Given the description of an element on the screen output the (x, y) to click on. 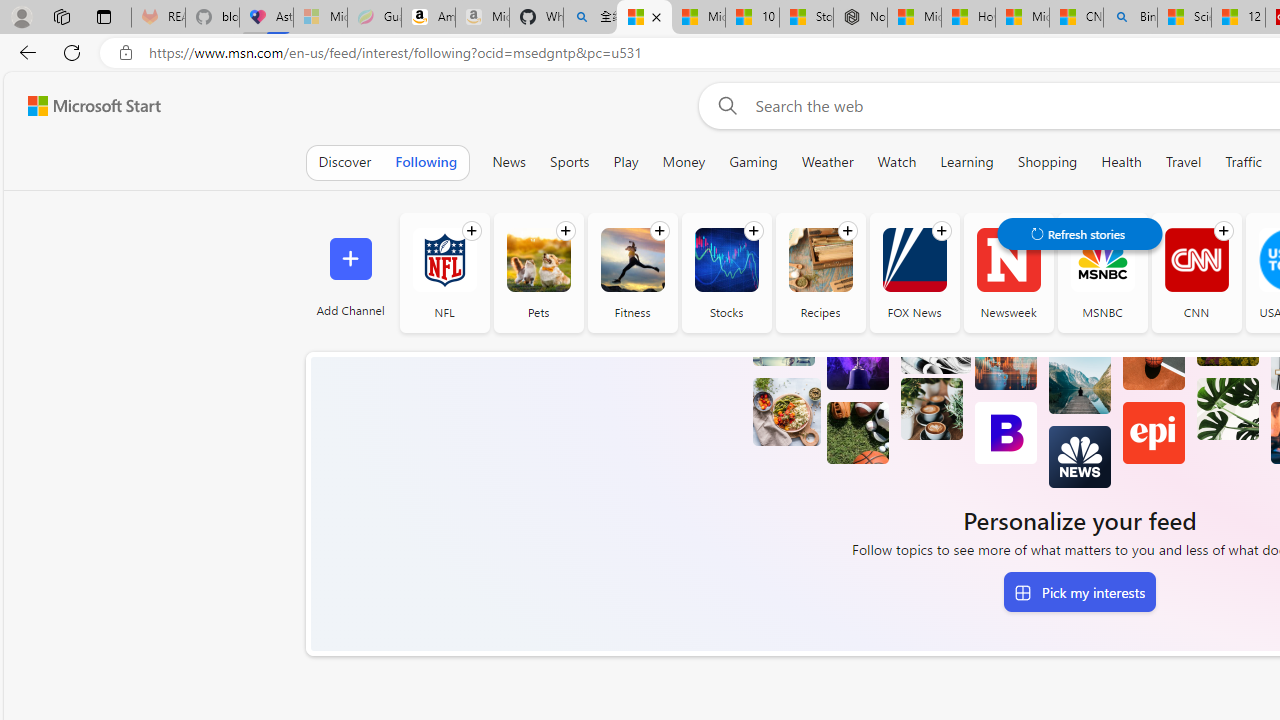
Money (684, 162)
Asthma Inhalers: Names and Types (266, 17)
Fitness (632, 272)
Play (625, 161)
Stocks (725, 272)
Sports (569, 161)
Newsweek (1007, 260)
Stocks - MSN (806, 17)
Watch (897, 162)
Newsweek (1007, 272)
